Given the description of an element on the screen output the (x, y) to click on. 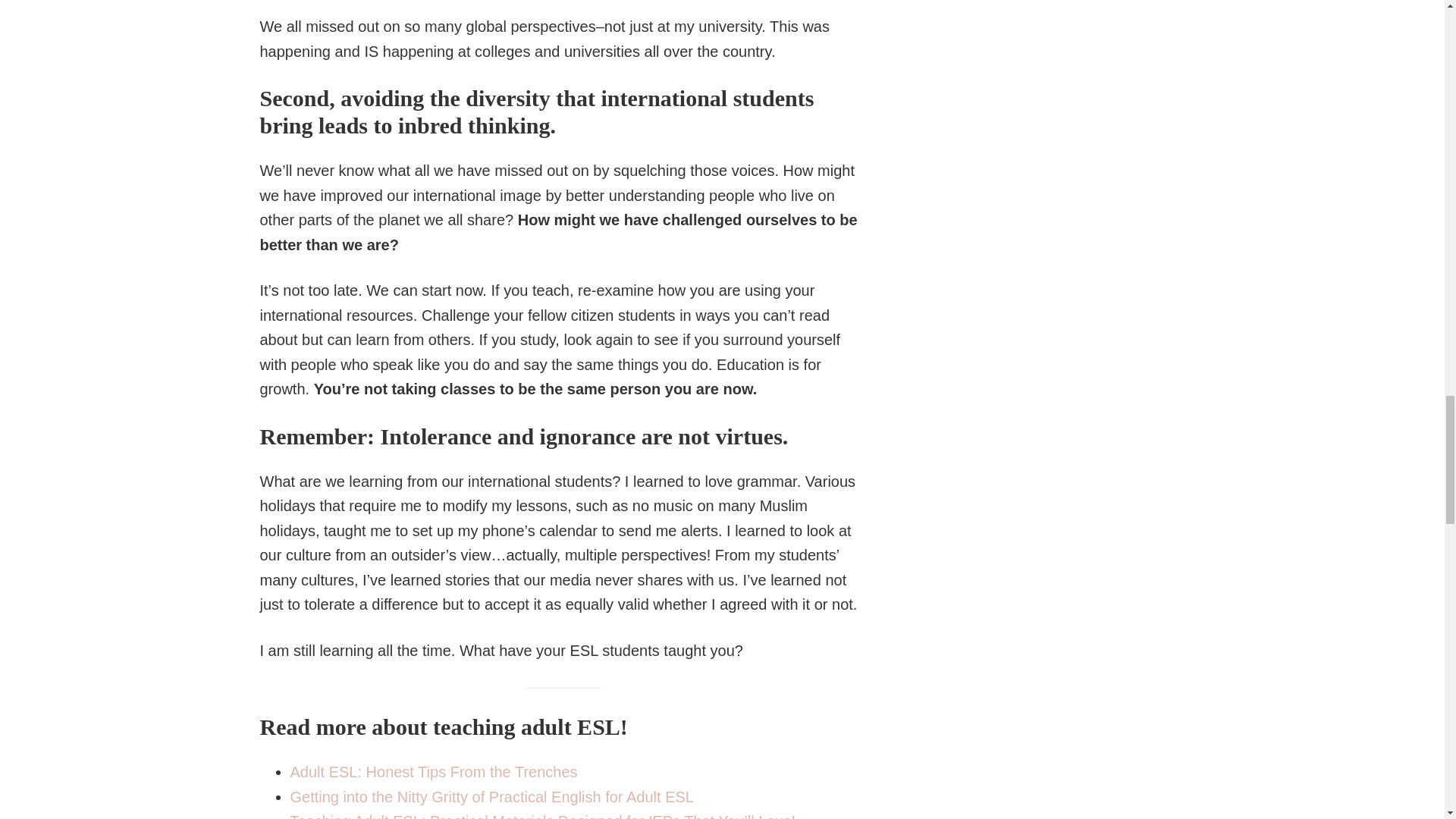
Adult ESL: Honest Tips From the Trenches (432, 771)
